Given the description of an element on the screen output the (x, y) to click on. 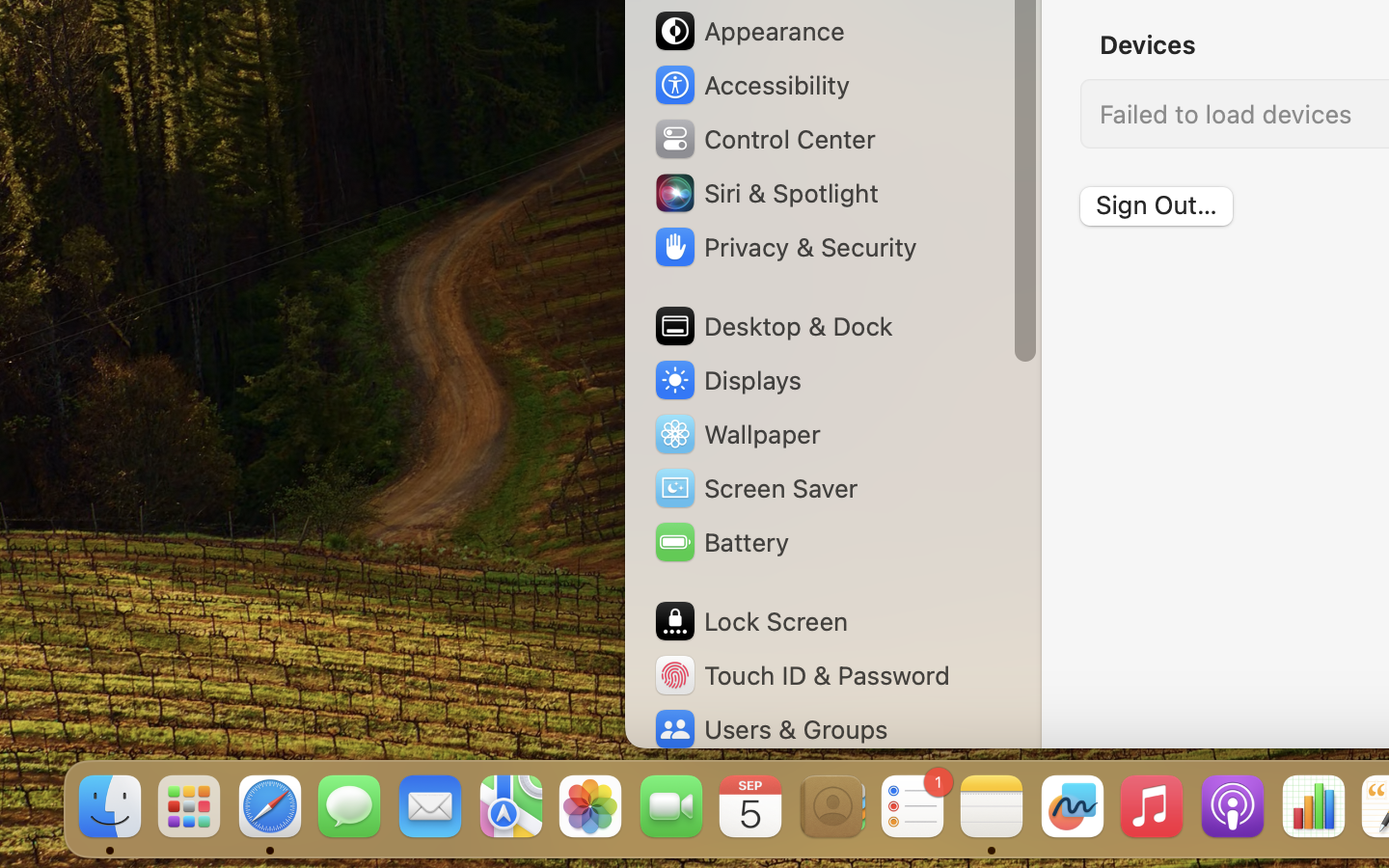
Siri & Spotlight Element type: AXStaticText (764, 192)
Lock Screen Element type: AXStaticText (750, 620)
Privacy & Security Element type: AXStaticText (784, 246)
Wallpaper Element type: AXStaticText (735, 433)
Appearance Element type: AXStaticText (748, 30)
